Given the description of an element on the screen output the (x, y) to click on. 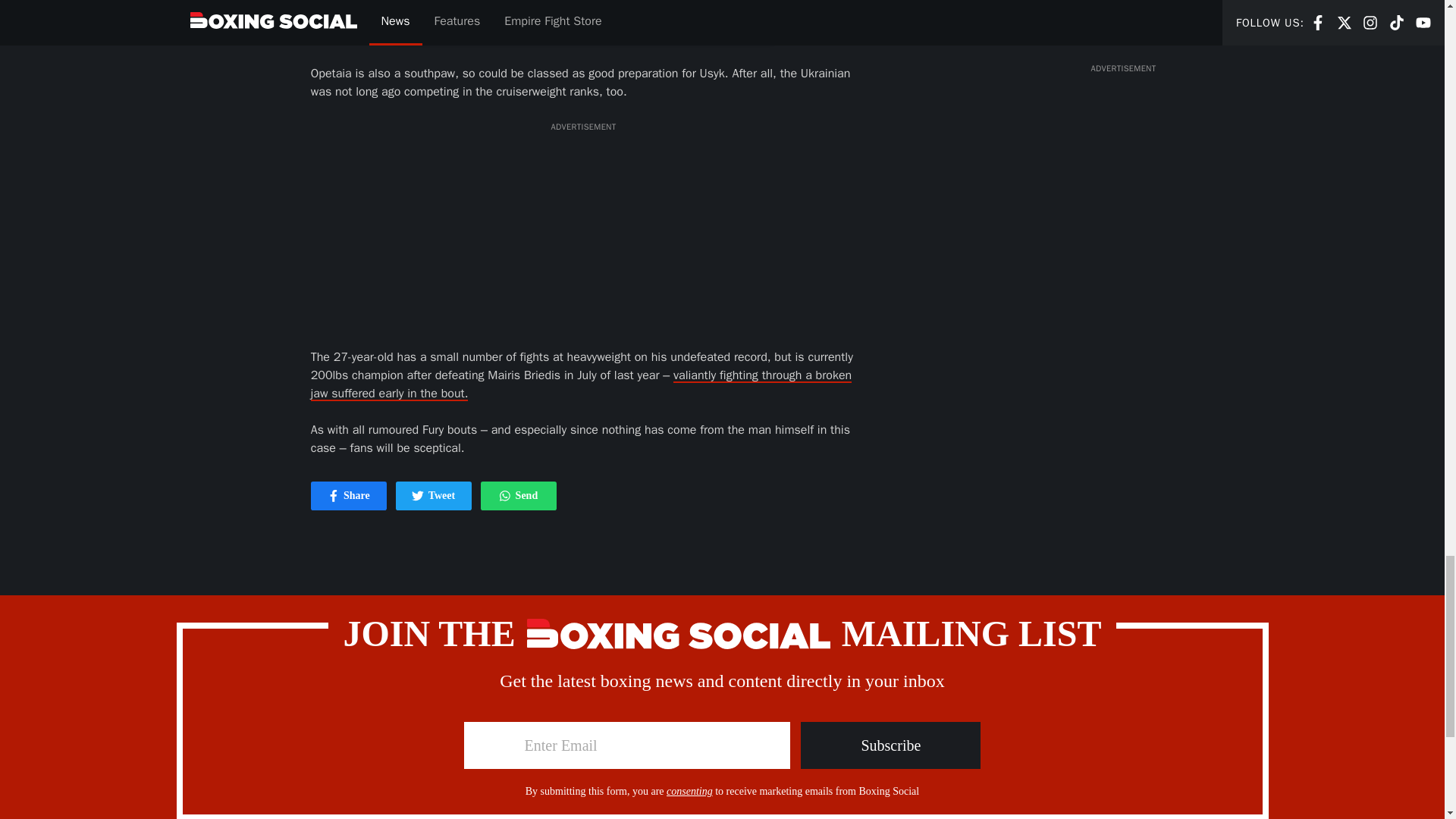
Twitter (433, 496)
WhatsApp (417, 495)
Subscribe (518, 496)
Subscribe (505, 495)
consenting (889, 745)
Facebook (889, 745)
